Given the description of an element on the screen output the (x, y) to click on. 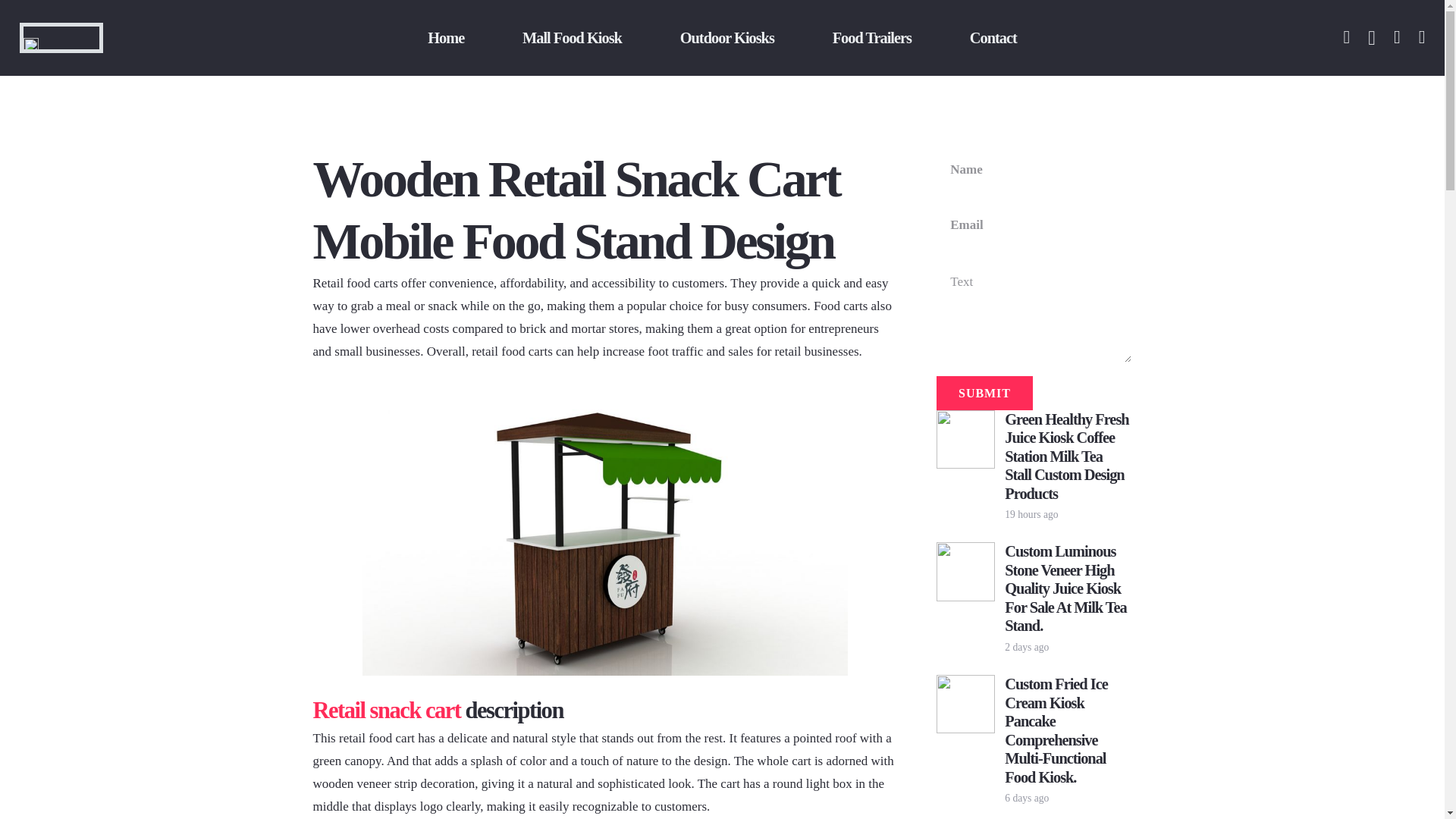
Contact (992, 38)
Outdoor Kiosks (726, 38)
Retail snack cart (386, 710)
Home (445, 38)
Mall Food Kiosk (571, 38)
Food Trailers (871, 38)
